Given the description of an element on the screen output the (x, y) to click on. 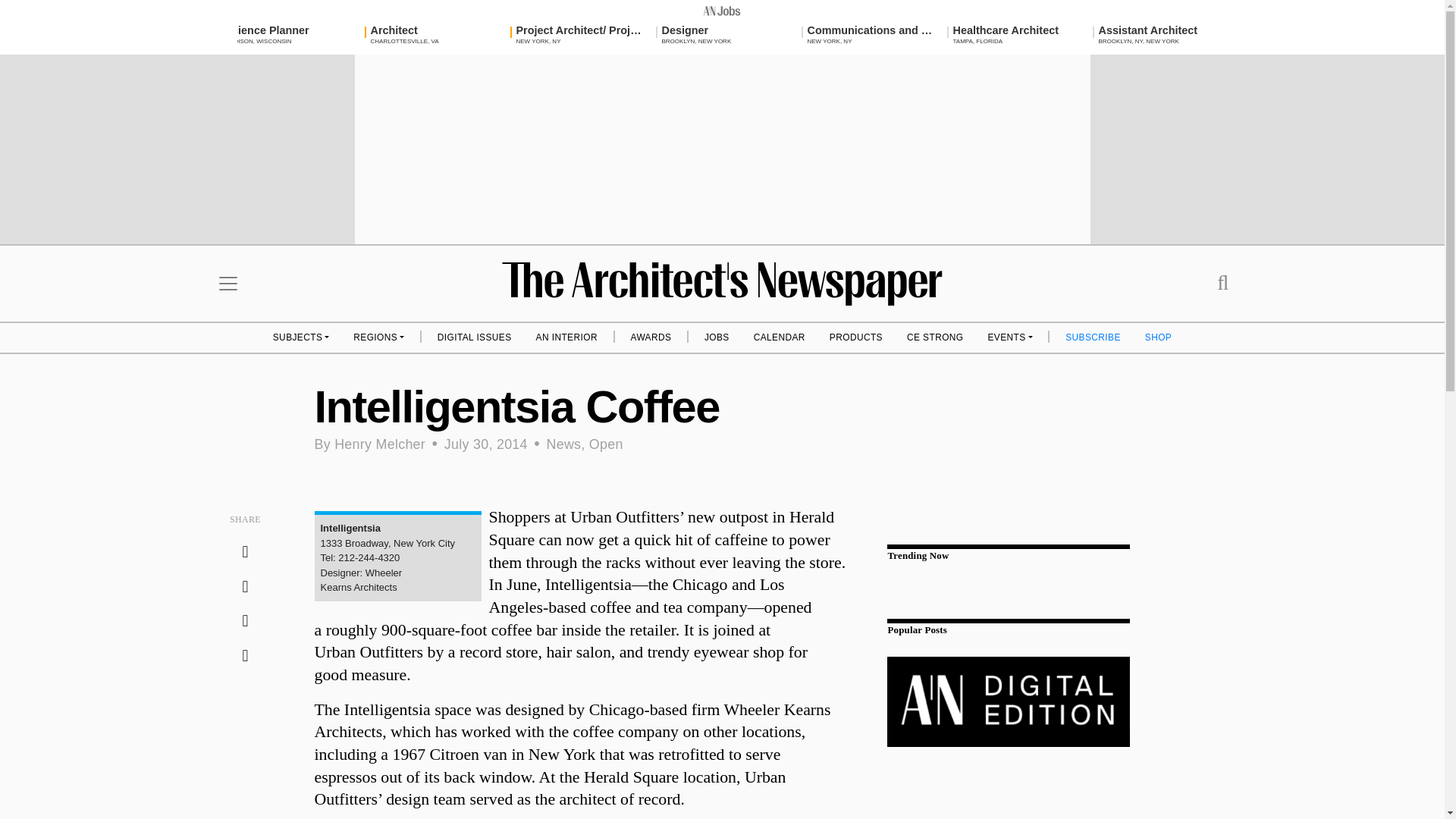
Advertisement (1161, 34)
